Given the description of an element on the screen output the (x, y) to click on. 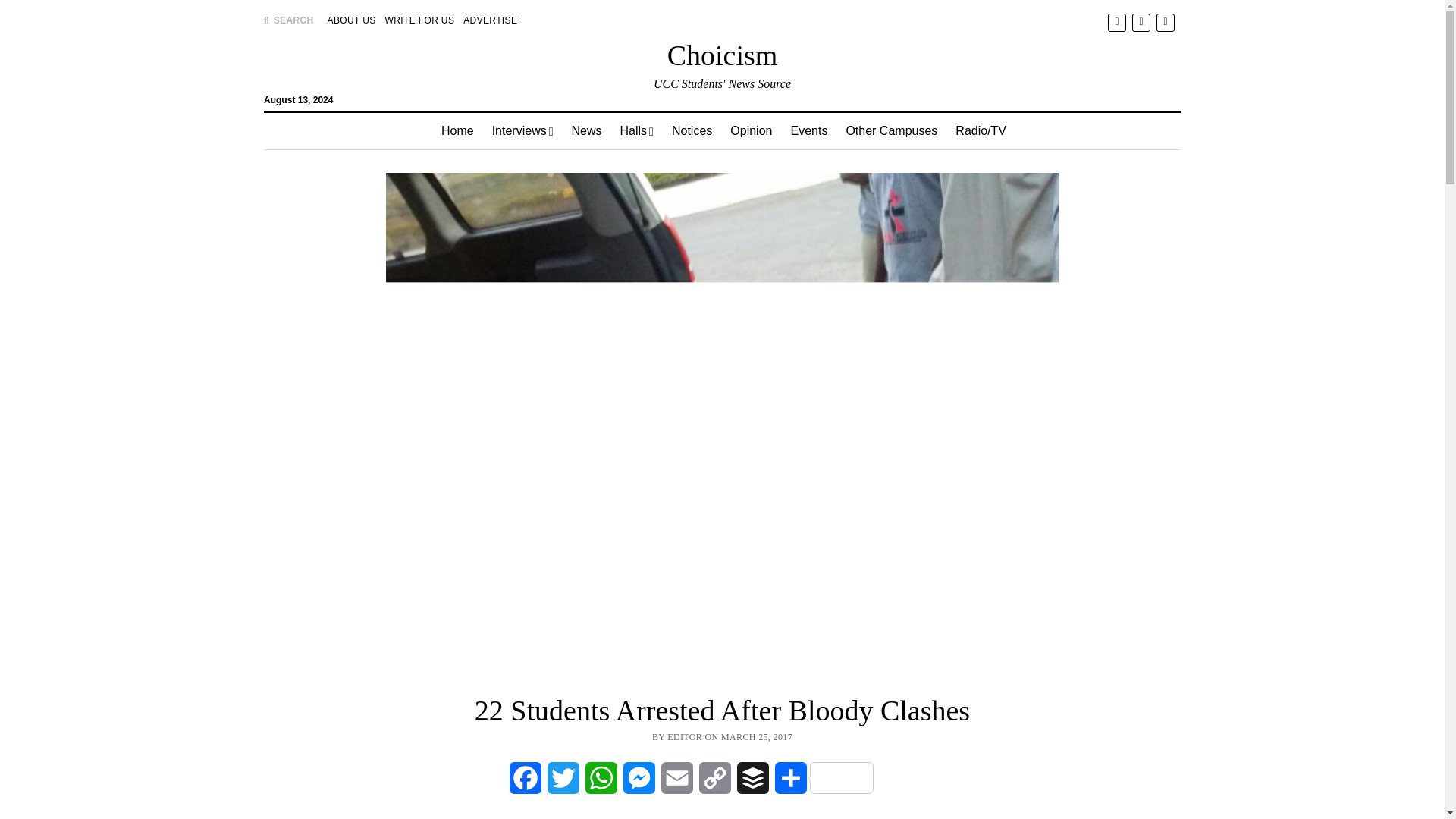
Choicism (721, 55)
Interviews (522, 131)
Halls (636, 131)
Search (945, 129)
Notices (691, 131)
WRITE FOR US (419, 20)
Opinion (750, 131)
ABOUT US (351, 20)
Events (807, 131)
News (586, 131)
